Given the description of an element on the screen output the (x, y) to click on. 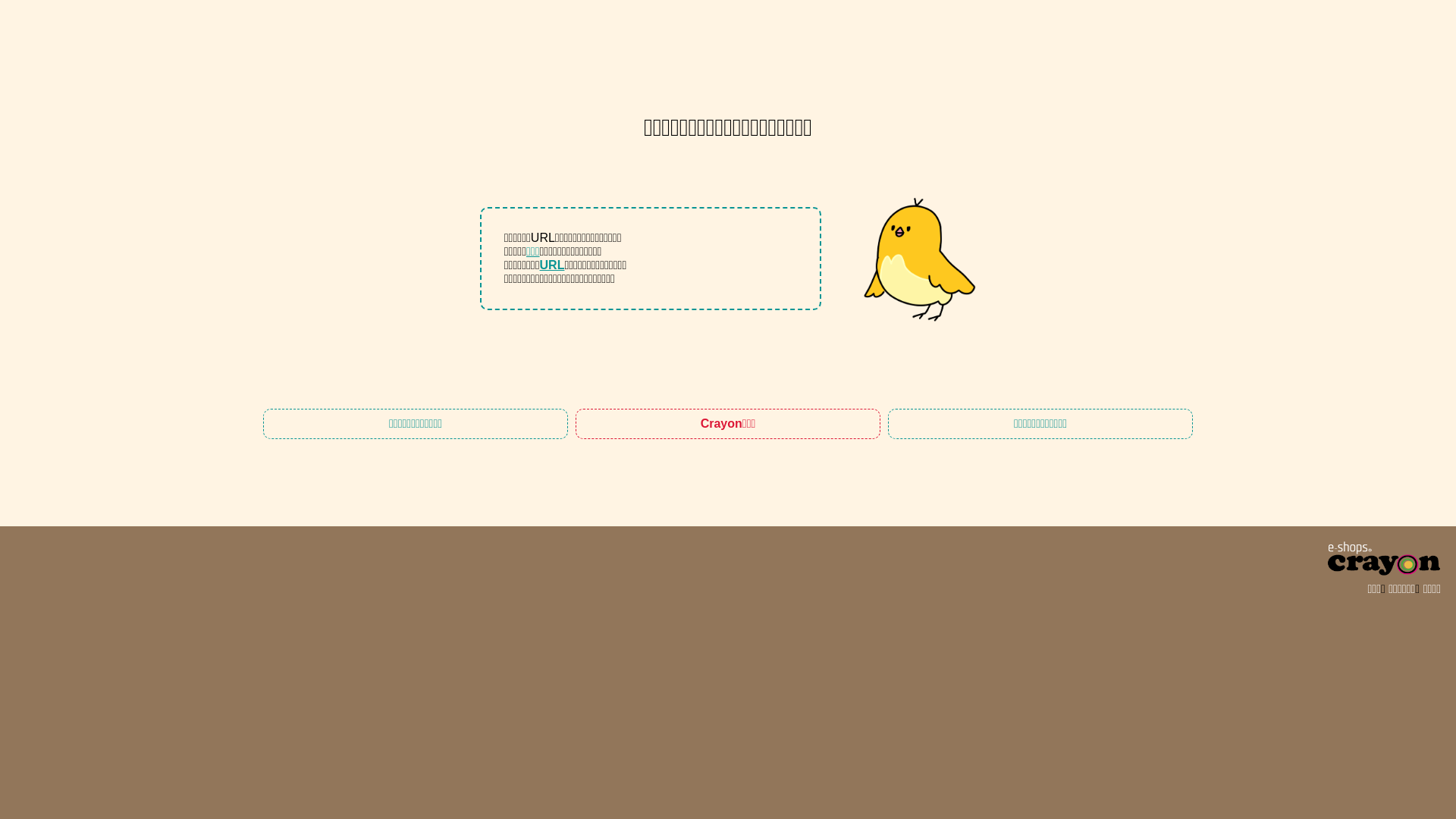
URL Element type: text (551, 264)
